Given the description of an element on the screen output the (x, y) to click on. 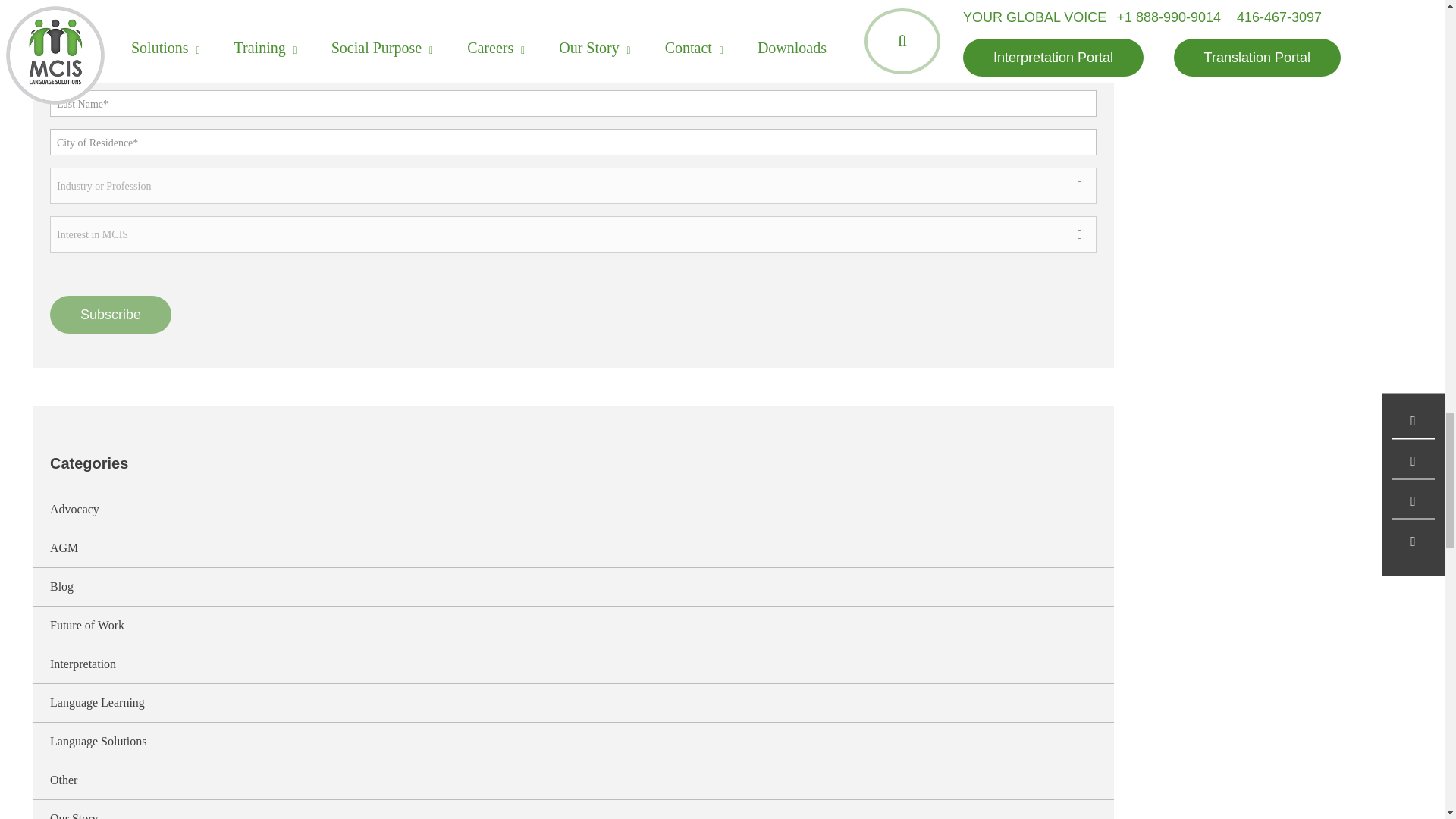
Subscribe (110, 314)
